Given the description of an element on the screen output the (x, y) to click on. 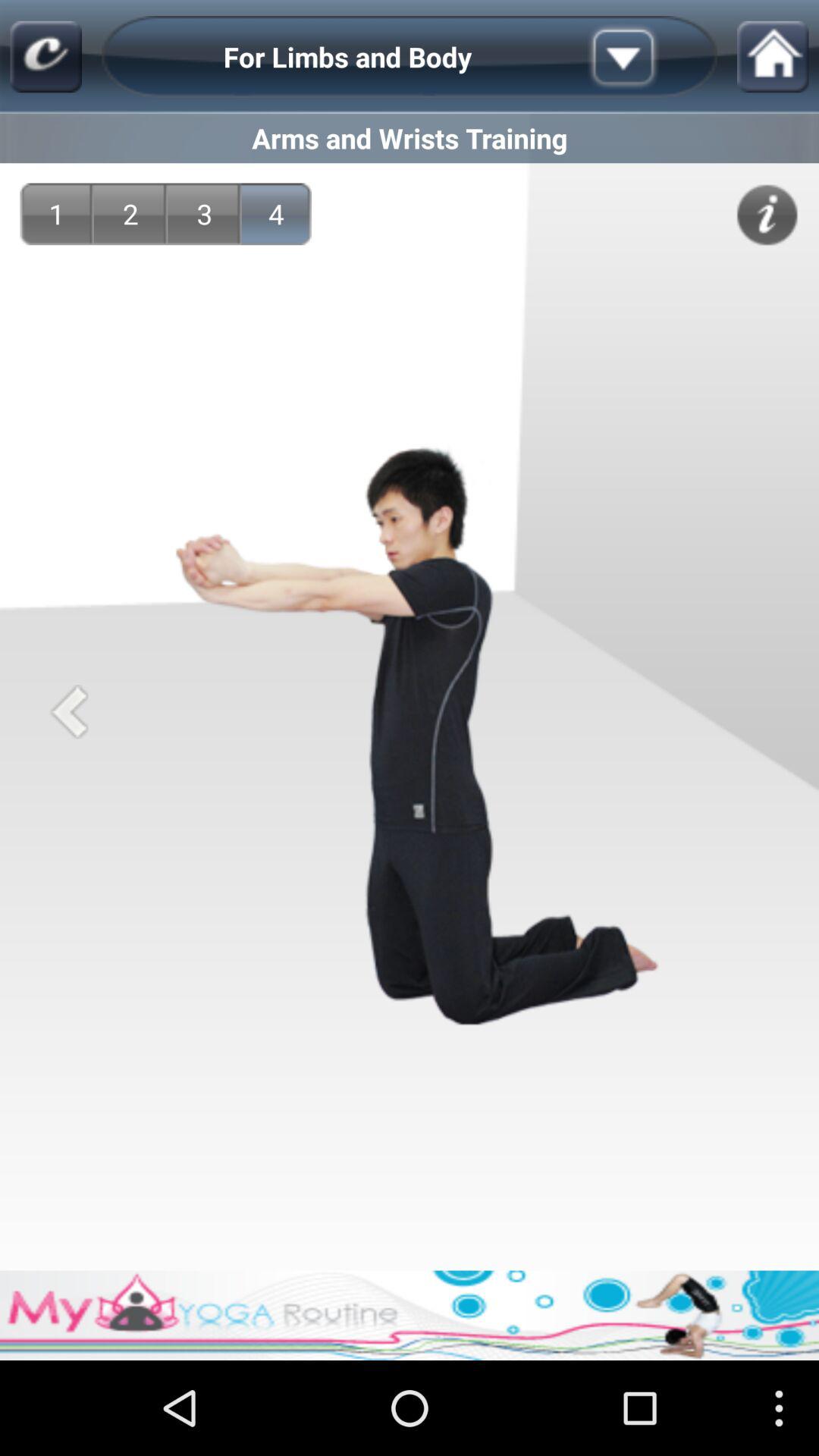
tap app below arms and wrists (276, 214)
